Given the description of an element on the screen output the (x, y) to click on. 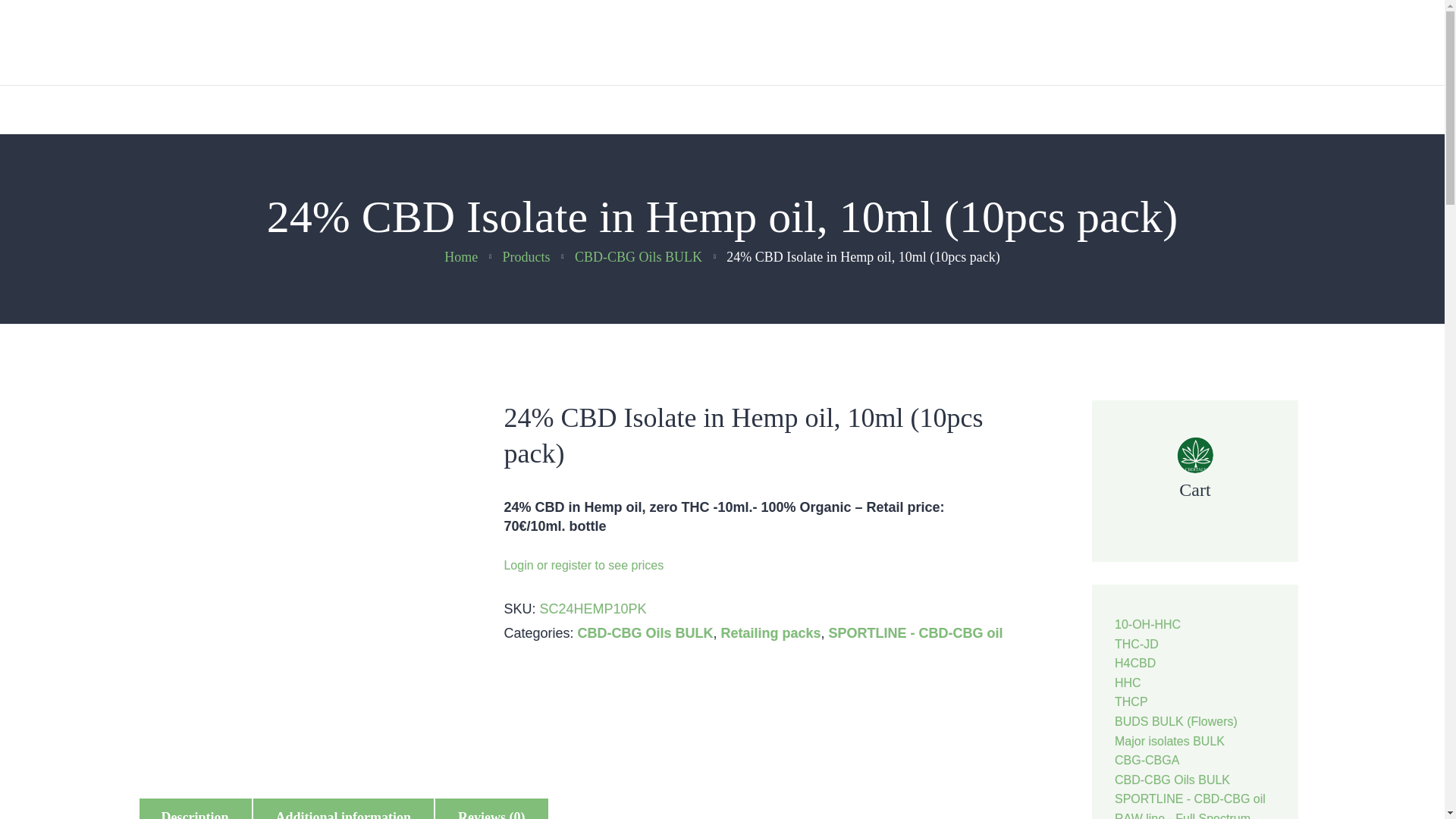
Go to the CBD-CBG Oils BULK Category archives. (638, 256)
Retailing packs (770, 632)
Go to Products. (526, 256)
Home (460, 256)
Description (194, 810)
CBD-CBG Oils BULK (638, 256)
Login or register to see prices (583, 564)
Products (526, 256)
CBD-CBG Oils BULK (645, 632)
SPORTLINE - CBD-CBG oil (915, 632)
Additional information (344, 810)
Go to Home. (460, 256)
